Given the description of an element on the screen output the (x, y) to click on. 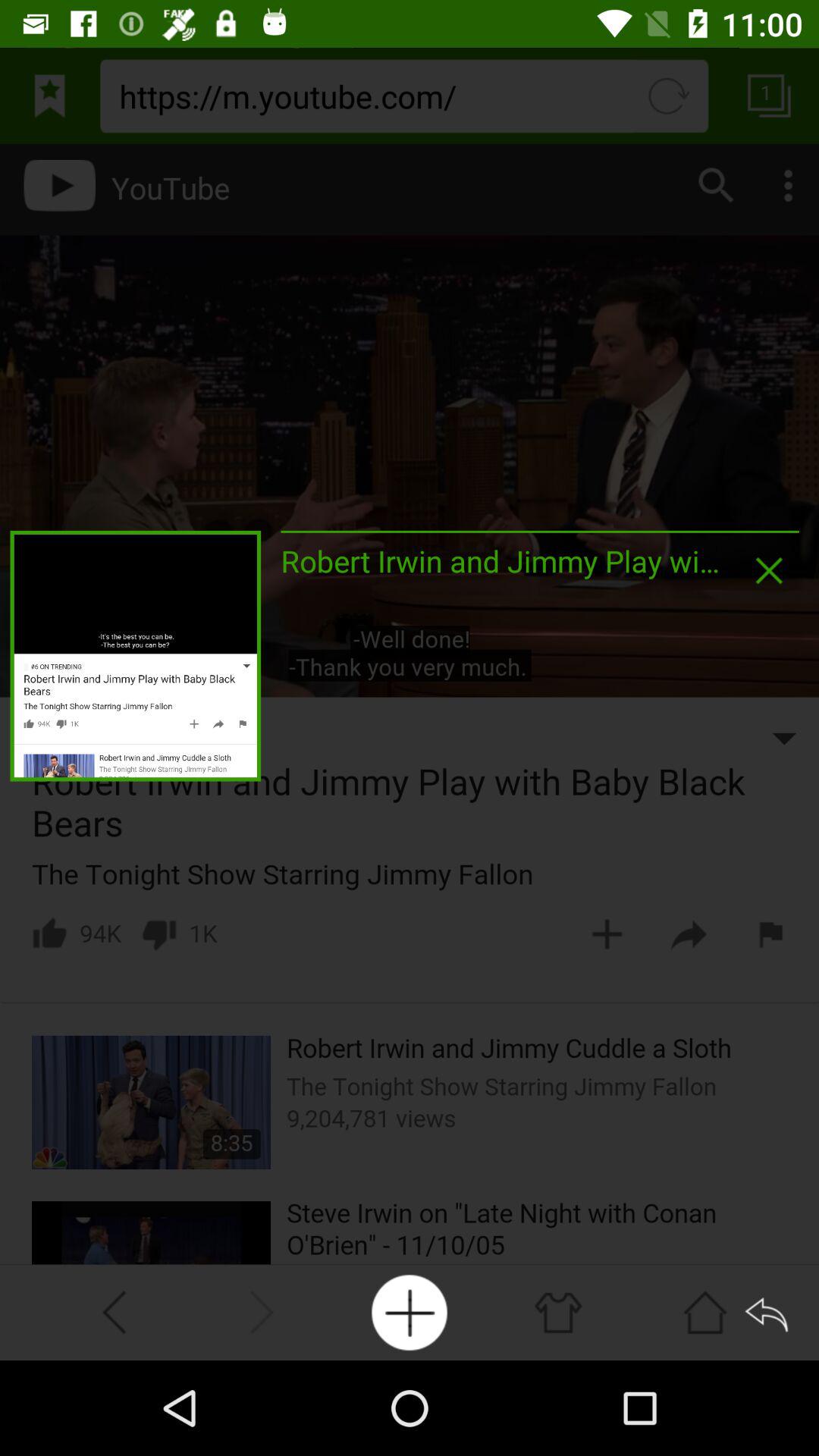
to click a add button (409, 1312)
